Given the description of an element on the screen output the (x, y) to click on. 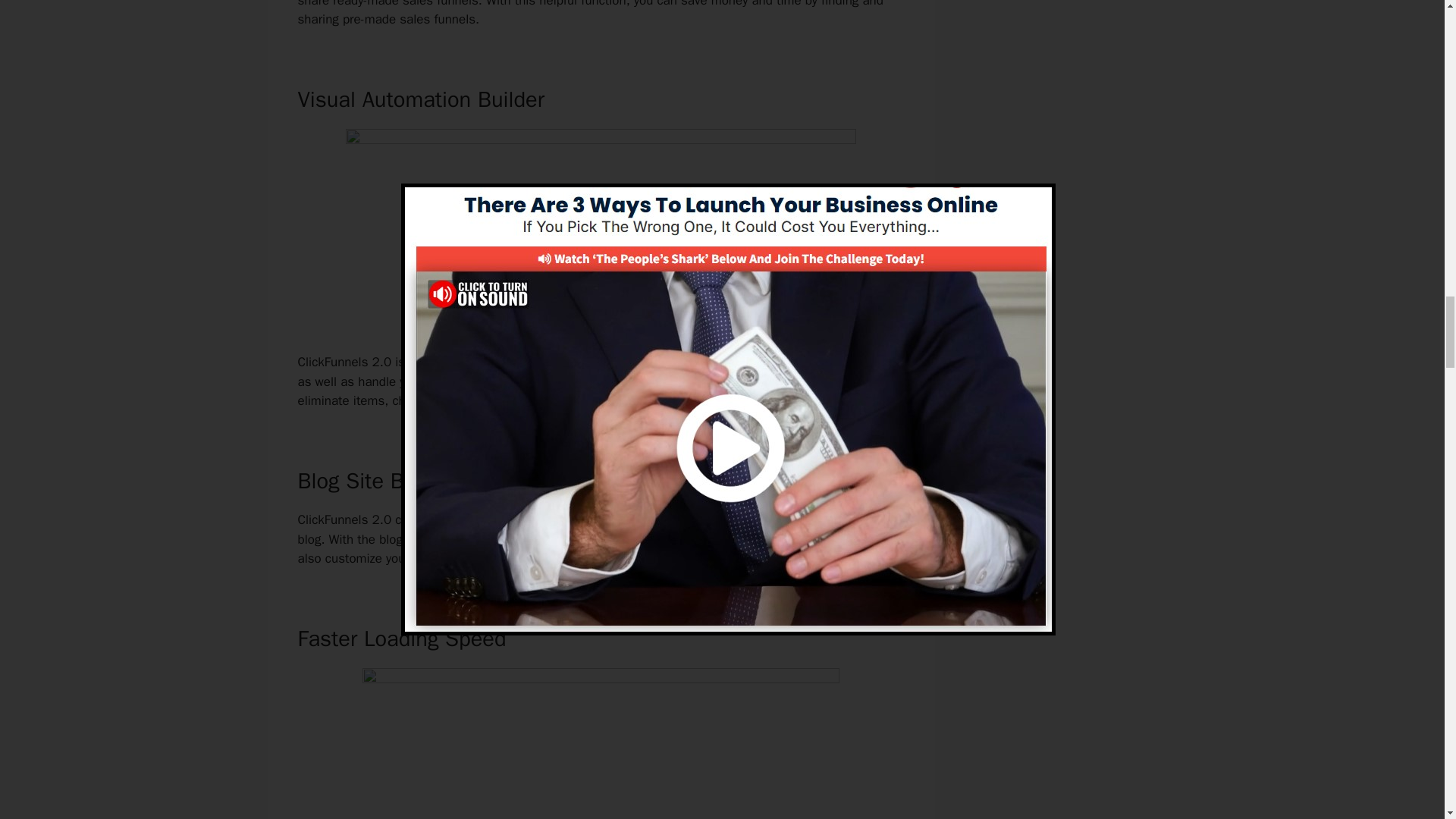
Begin Here For Free Today (601, 310)
